Given the description of an element on the screen output the (x, y) to click on. 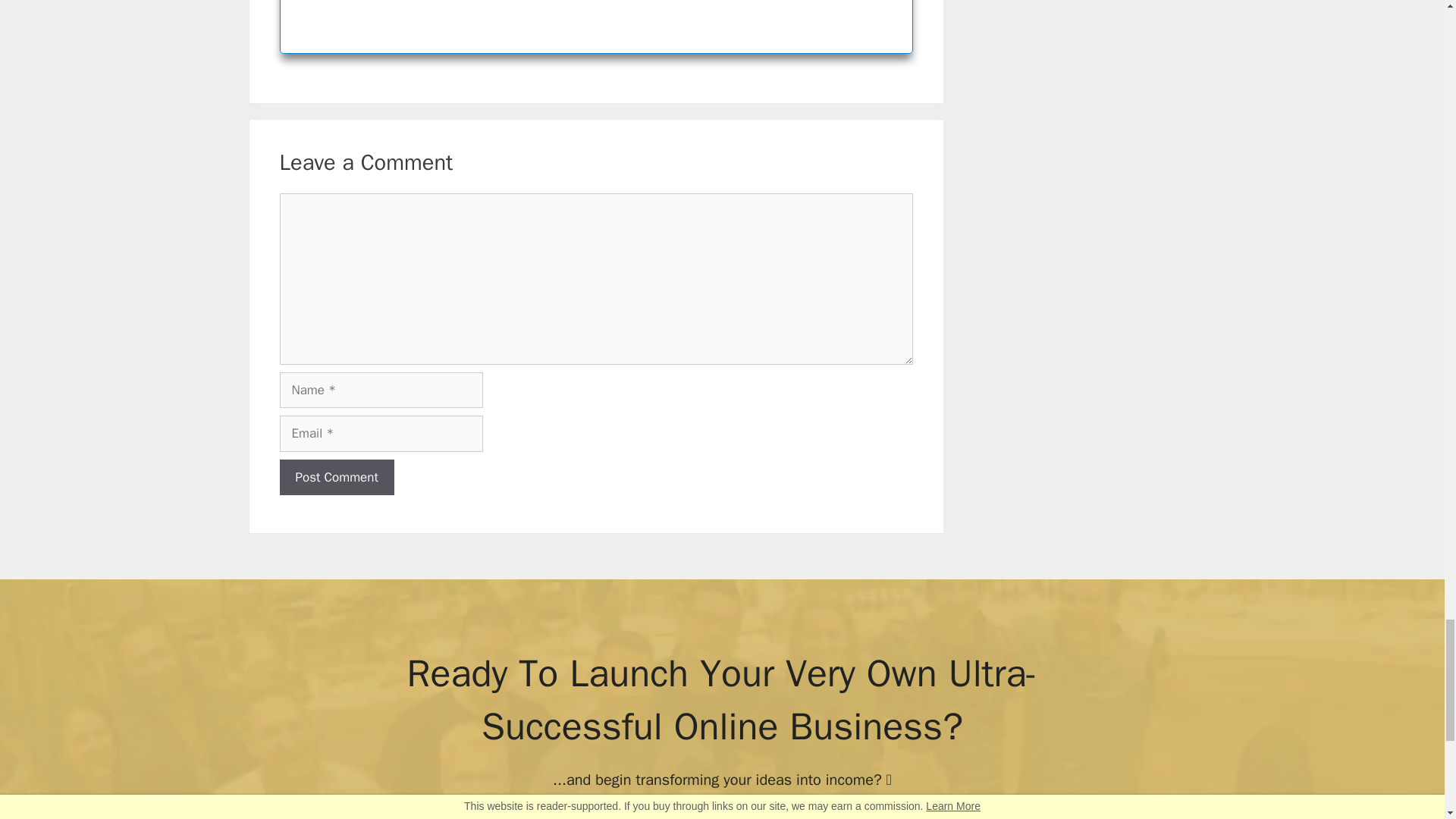
Post Comment (336, 477)
Post Comment (336, 477)
